Given the description of an element on the screen output the (x, y) to click on. 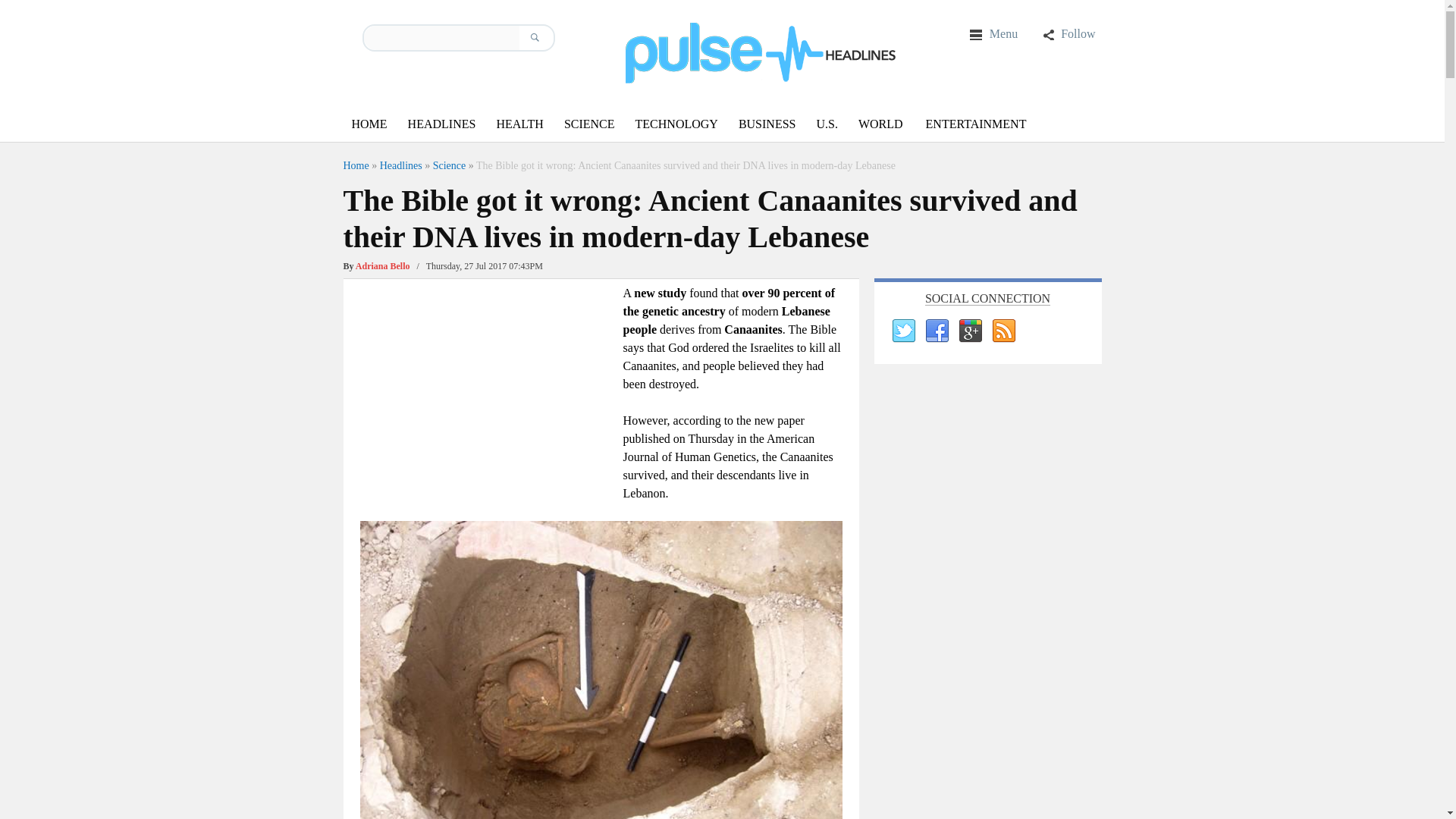
Headlines (401, 165)
Advertisement (486, 390)
RSS (1002, 331)
U.S. (826, 123)
Science (448, 165)
Follow (1068, 33)
Menu (993, 33)
Home (355, 165)
Facebook (935, 331)
Twitter (901, 331)
ENTERTAINMENT (975, 123)
SCIENCE (589, 123)
WORLD (880, 123)
HEALTH (519, 123)
HOME (368, 123)
